Given the description of an element on the screen output the (x, y) to click on. 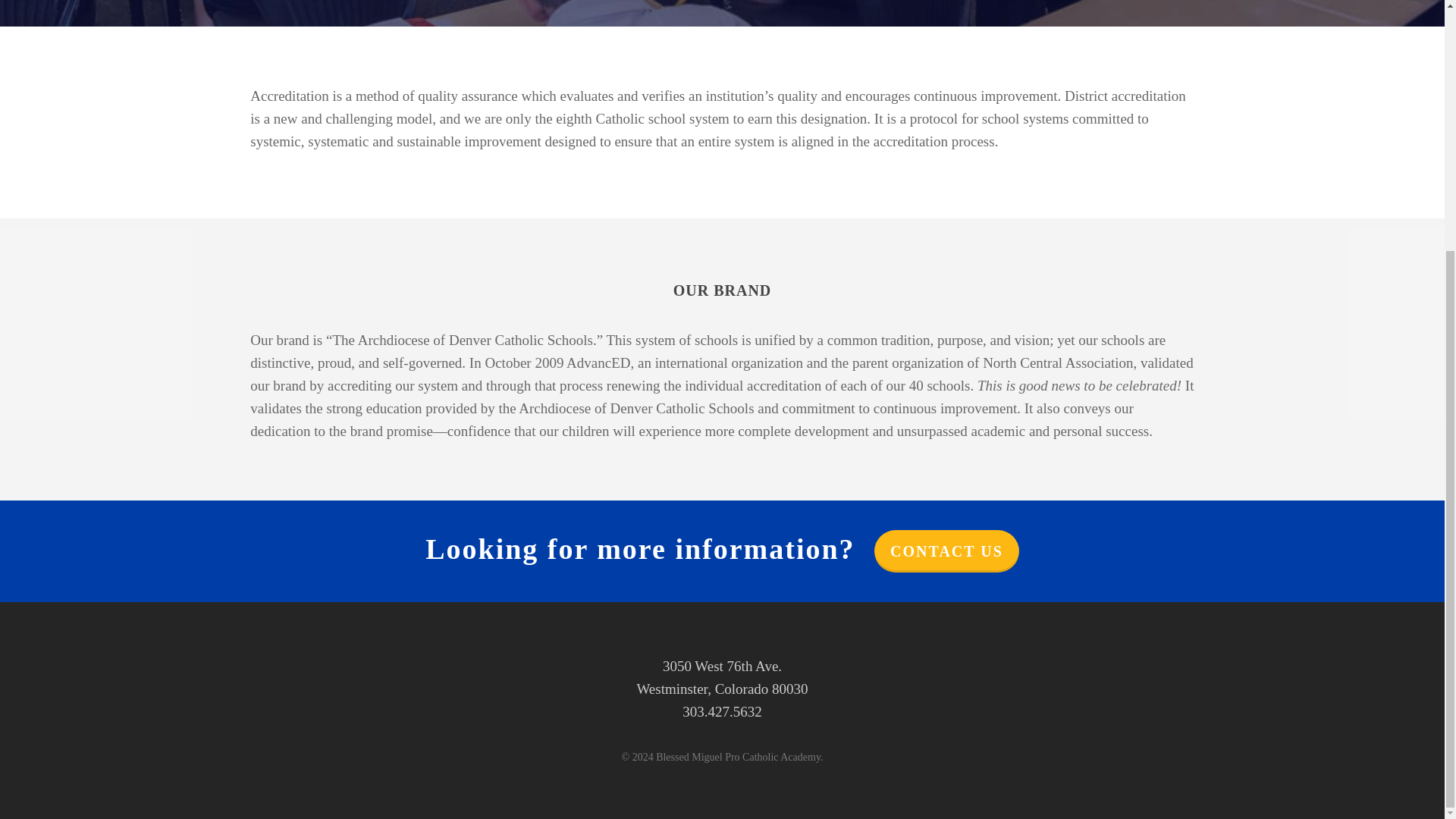
CONTACT US (947, 550)
303.427.5632 (721, 711)
3050 West 76th Ave. (721, 666)
Westminster, Colorado 80030 (722, 688)
